Given the description of an element on the screen output the (x, y) to click on. 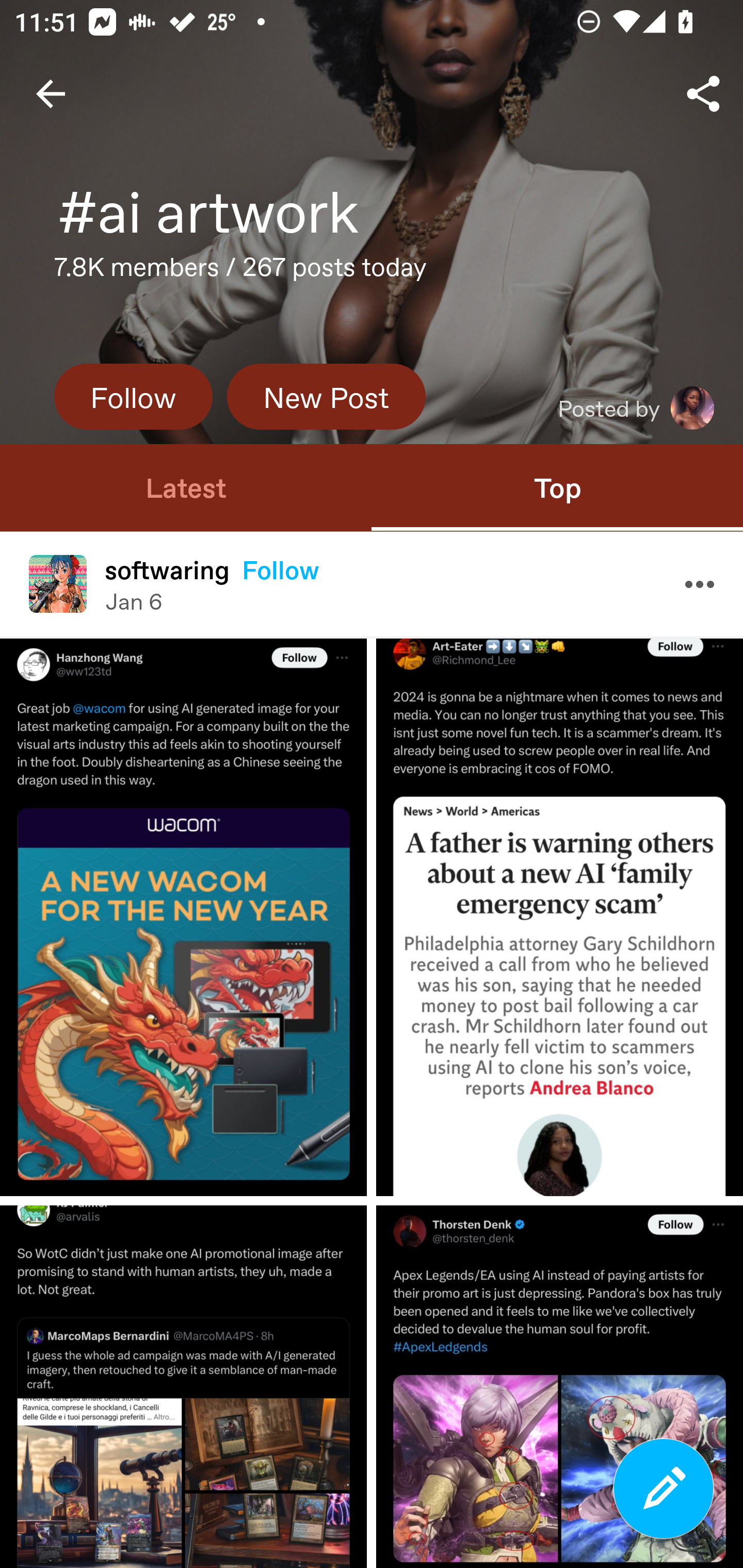
Navigate up (50, 93)
7.8K members /  267 posts today (240, 272)
Follow (133, 396)
New Post (326, 396)
Latest (185, 486)
Avatar frame softwaring   softwaring Follow Jan 6 (371, 583)
Follow (280, 569)
Compose a new post (663, 1488)
